Given the description of an element on the screen output the (x, y) to click on. 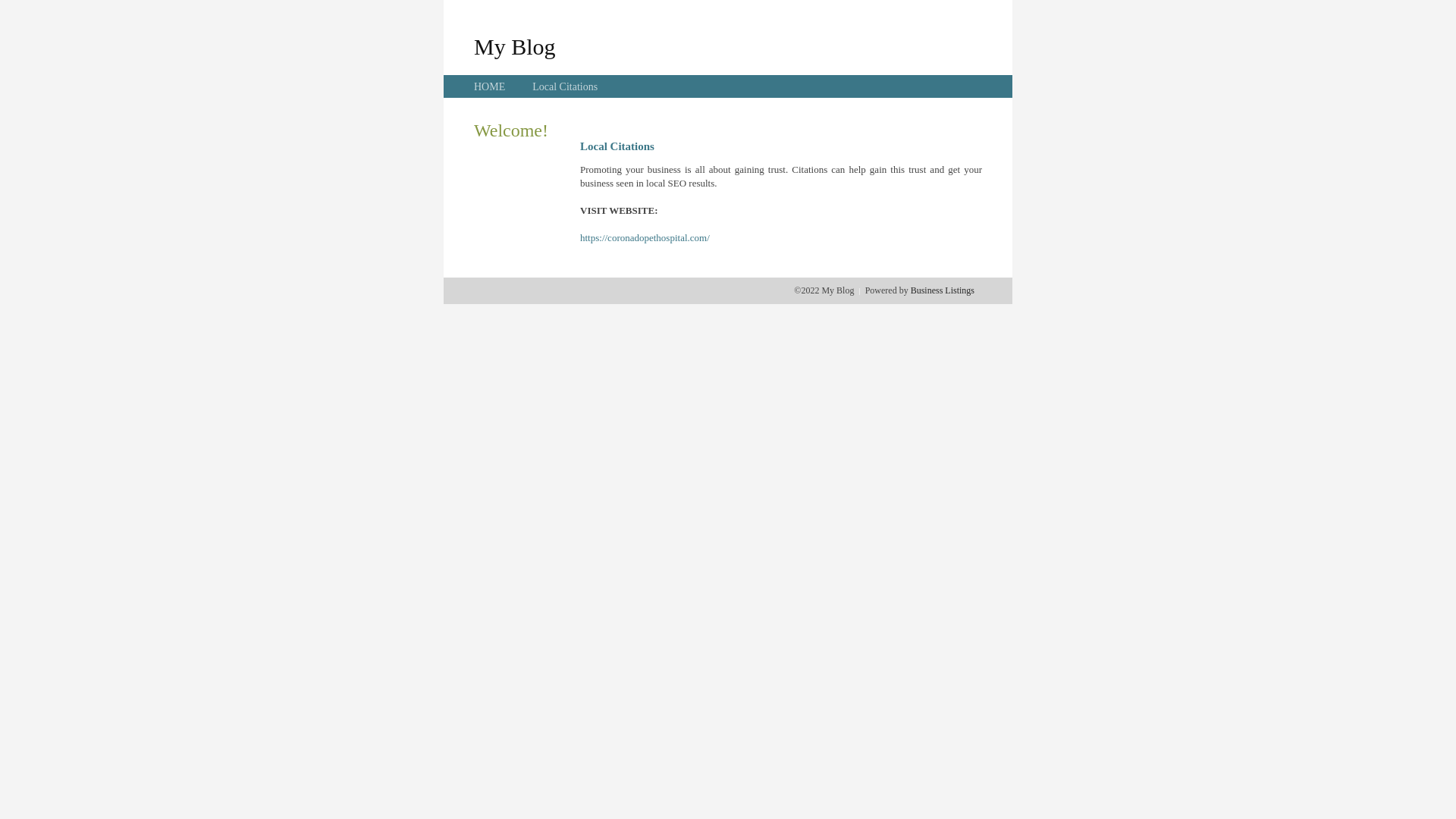
HOME Element type: text (489, 86)
My Blog Element type: text (514, 46)
Local Citations Element type: text (564, 86)
https://coronadopethospital.com/ Element type: text (644, 237)
Business Listings Element type: text (942, 290)
